Given the description of an element on the screen output the (x, y) to click on. 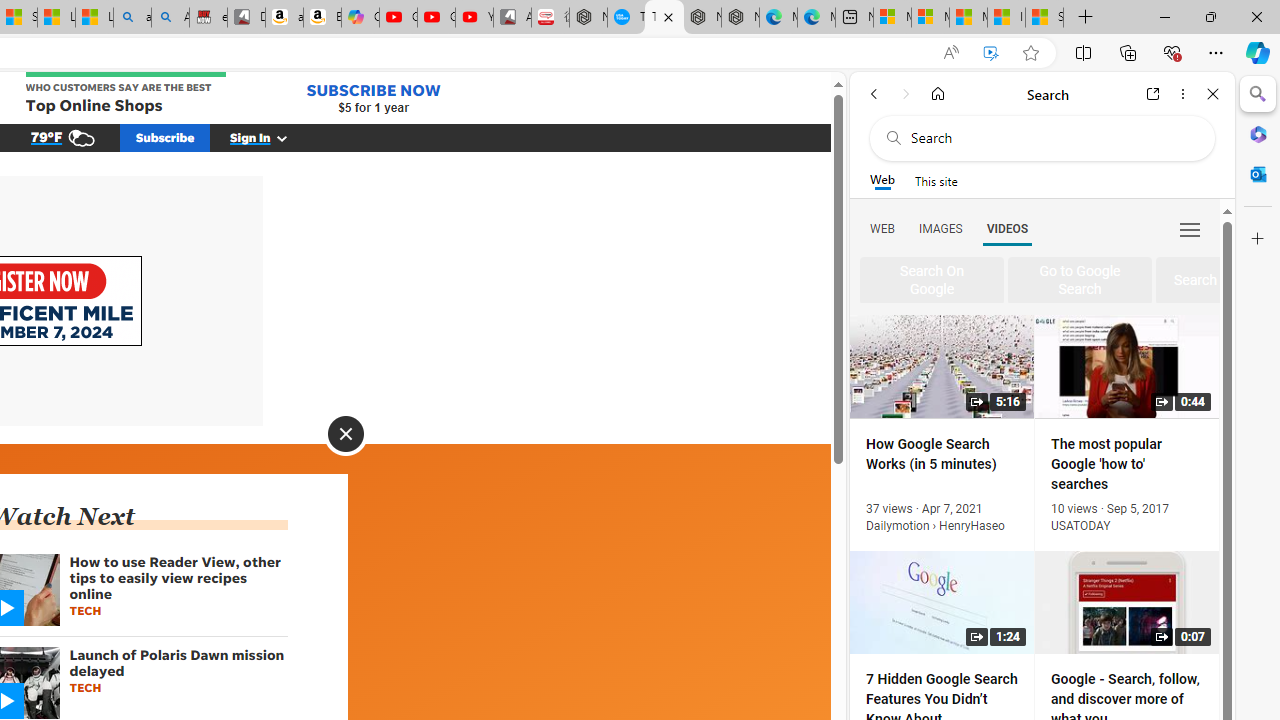
WHO CUSTOMERS SAY ARE THE BEST Top Online Shops (125, 94)
Search the web (1051, 137)
Class: b_serphb (1190, 229)
Class: suggestion-item  (1080, 281)
This site scope (936, 180)
Nordace - My Account (587, 17)
